Given the description of an element on the screen output the (x, y) to click on. 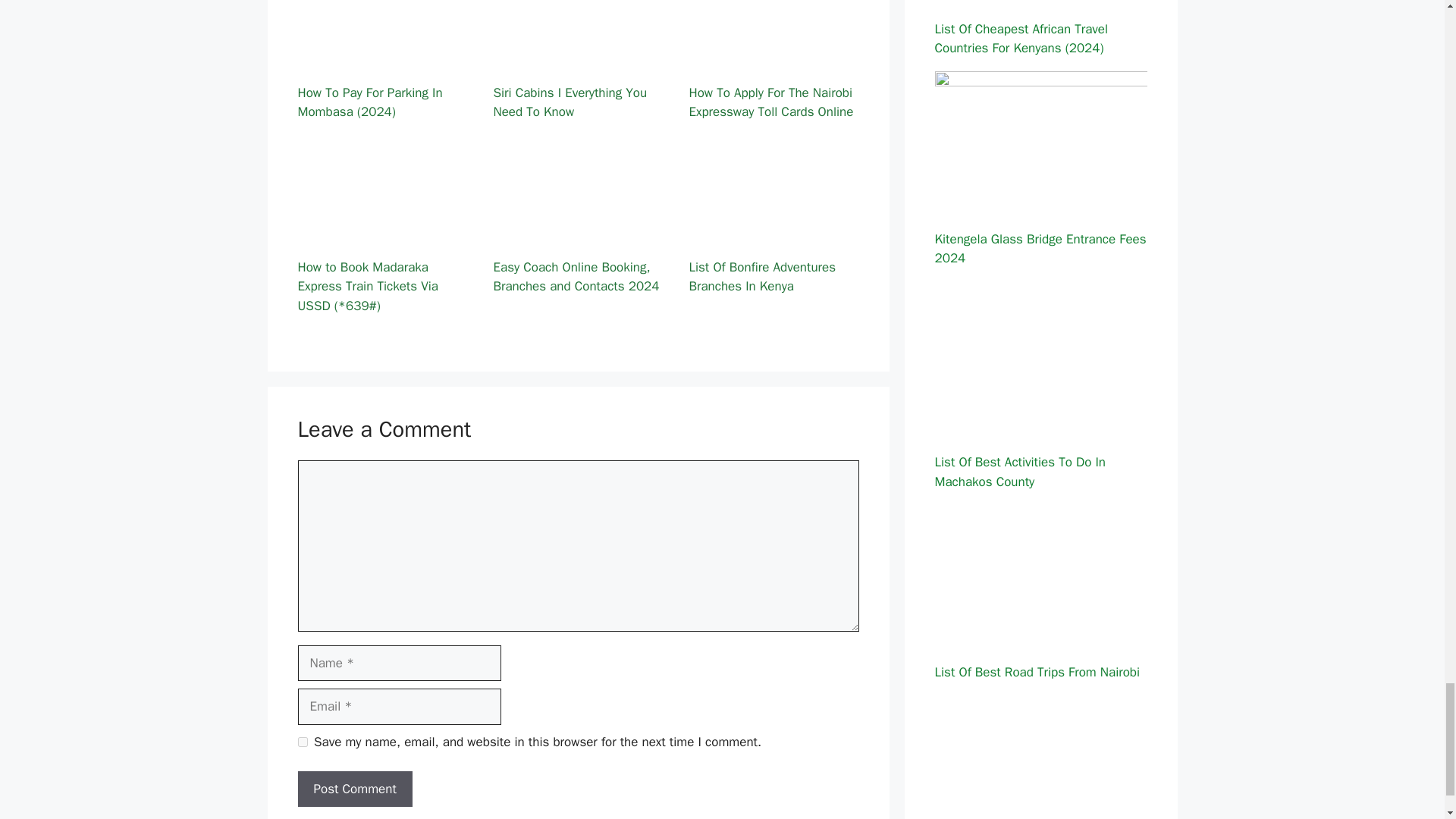
How To Apply For The Nairobi Expressway Toll Cards Online (773, 59)
Post Comment (354, 789)
Siri Cabins I Everything You Need To Know (577, 59)
Easy Coach Online Booking, Branches and Contacts 2024 (577, 234)
List Of Bonfire Adventures Branches In Kenya (773, 234)
yes (302, 741)
